Given the description of an element on the screen output the (x, y) to click on. 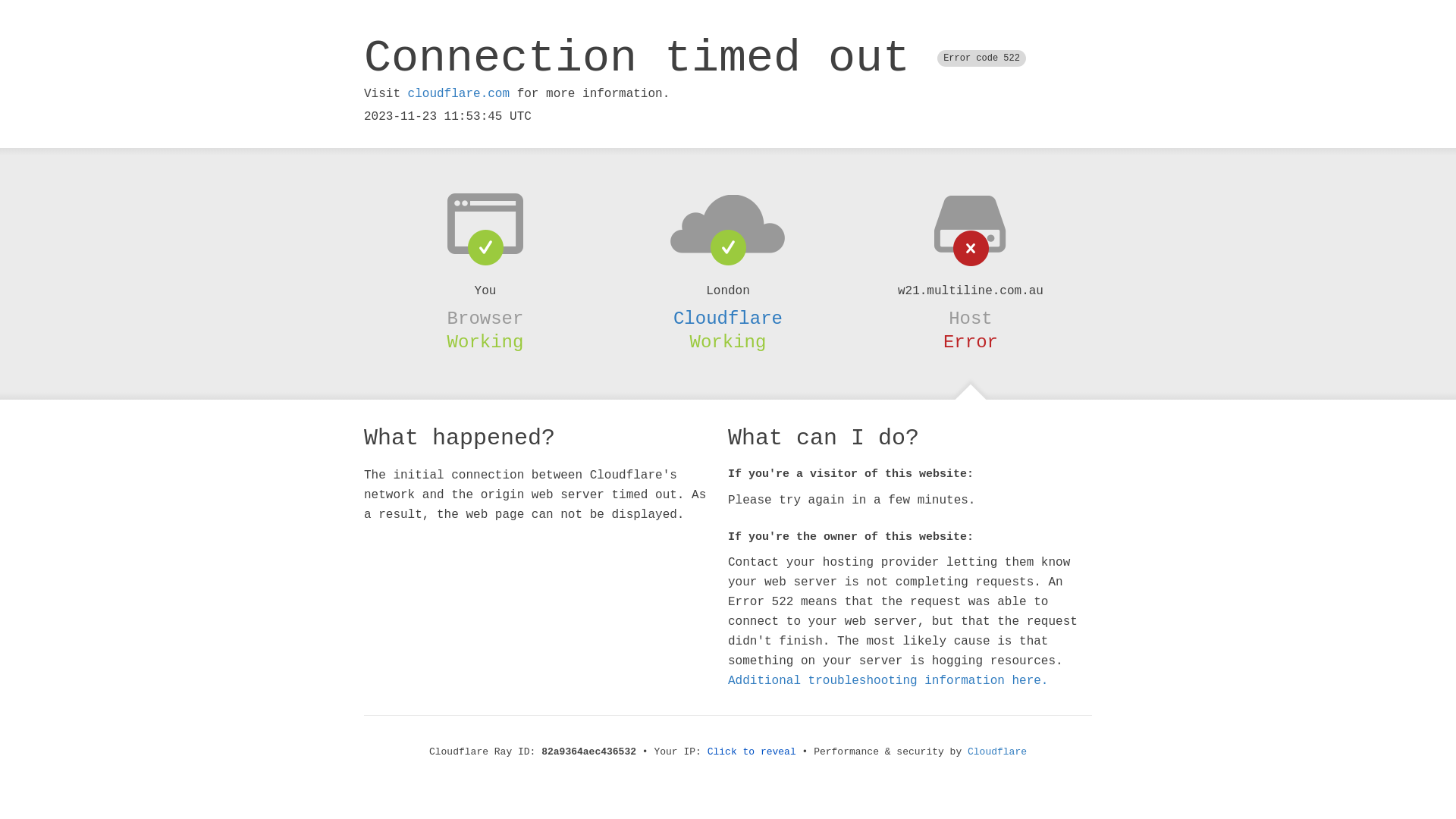
cloudflare.com Element type: text (458, 93)
Click to reveal Element type: text (751, 751)
Cloudflare Element type: text (727, 318)
Additional troubleshooting information here. Element type: text (888, 680)
Cloudflare Element type: text (996, 751)
